Given the description of an element on the screen output the (x, y) to click on. 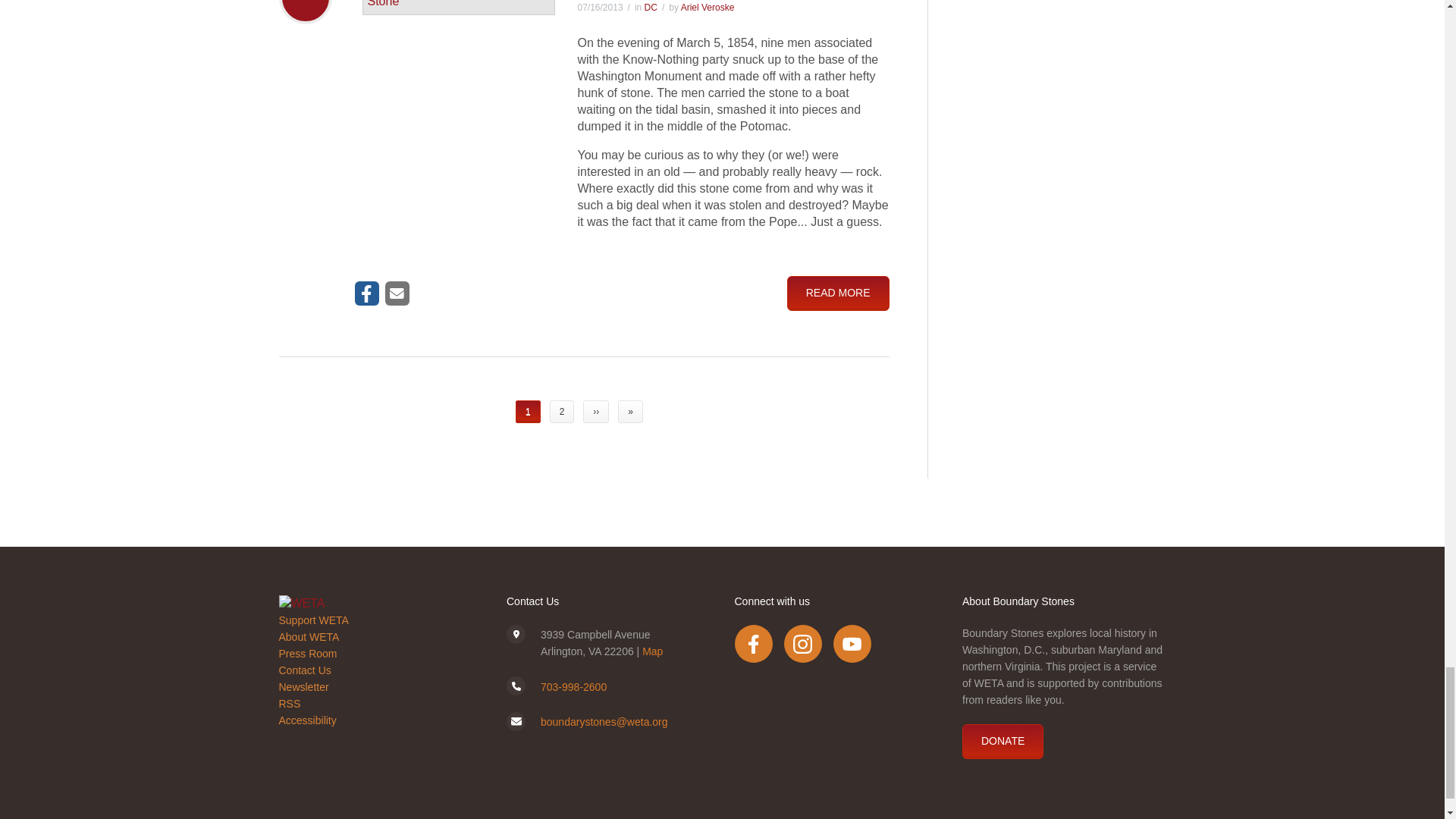
Current page (527, 411)
Go to page 2 (562, 411)
View user profile. (708, 7)
Go to last page (630, 411)
Go to next page (595, 411)
